Given the description of an element on the screen output the (x, y) to click on. 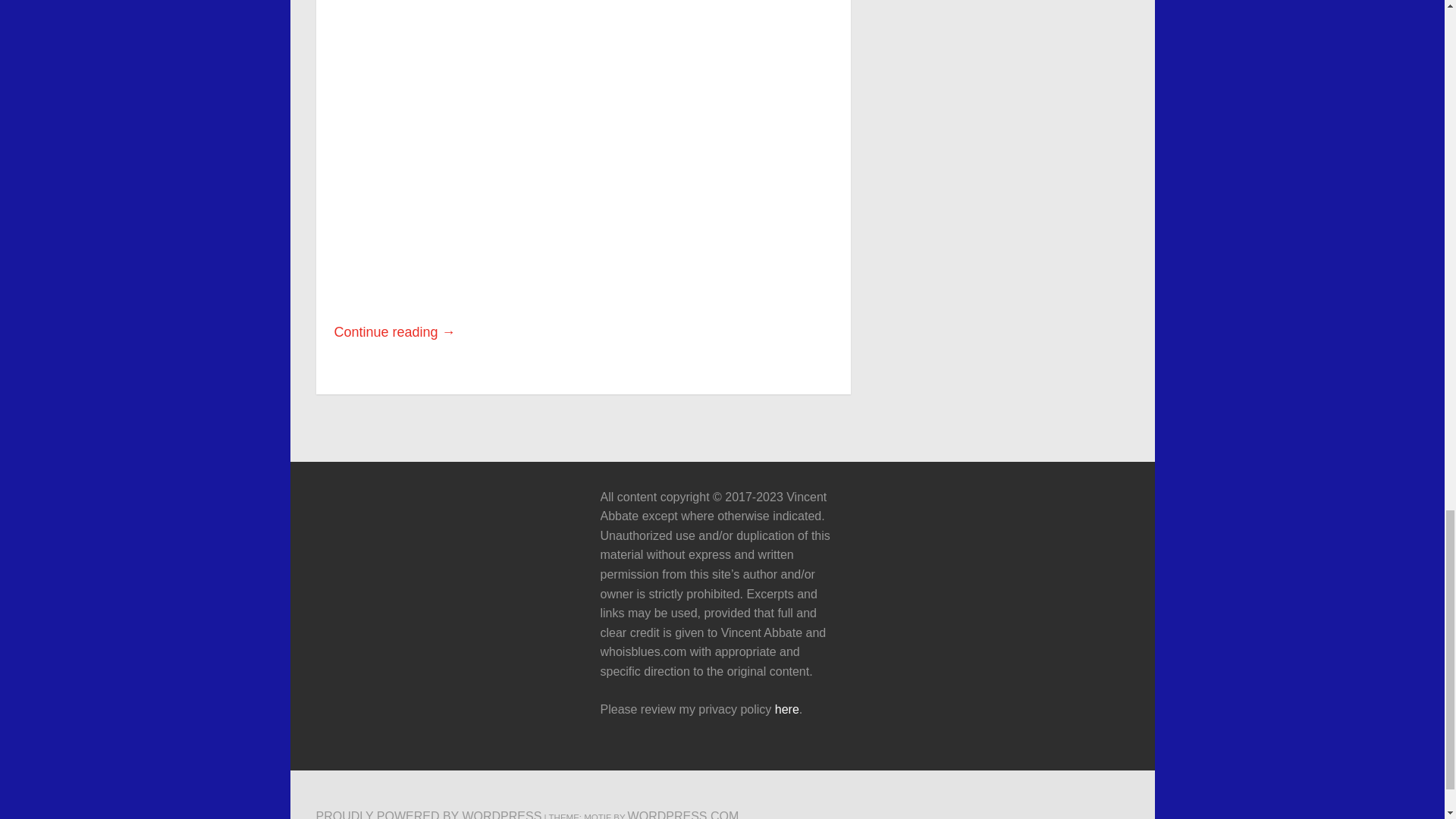
here (786, 708)
